Given the description of an element on the screen output the (x, y) to click on. 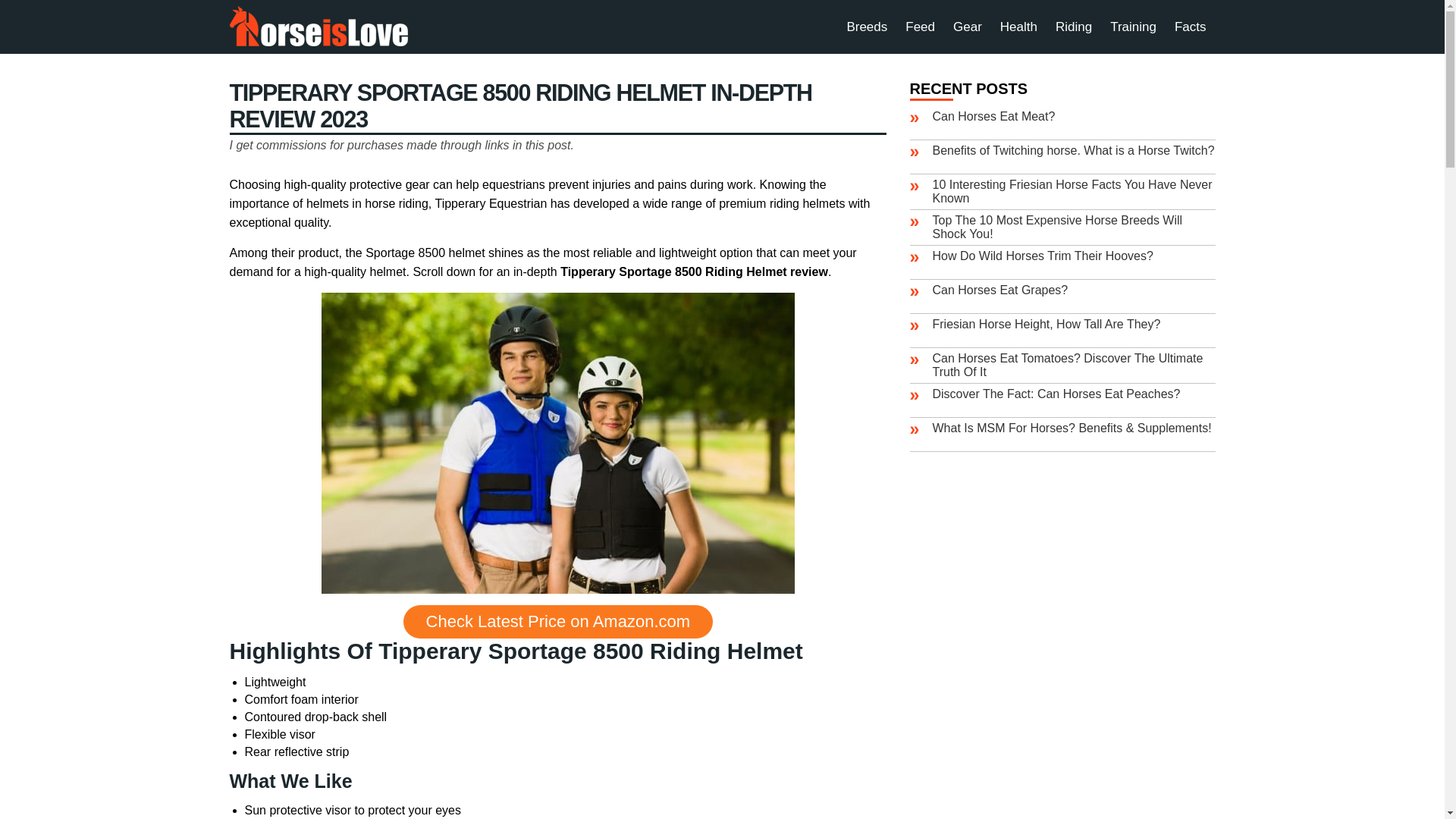
Can Horses Eat Grapes? (1000, 289)
Check Latest Price on Amazon.com (558, 621)
Breeds (866, 27)
Can Horses Eat Tomatoes? Discover The Ultimate Truth Of It (1068, 365)
Horse is Love (317, 25)
Training (1133, 27)
How Do Wild Horses Trim Their Hooves? (1043, 255)
Benefits of Twitching horse. What is a Horse Twitch? (1073, 150)
Discover The Fact: Can Horses Eat Peaches? (1056, 393)
Health (1018, 27)
